Given the description of an element on the screen output the (x, y) to click on. 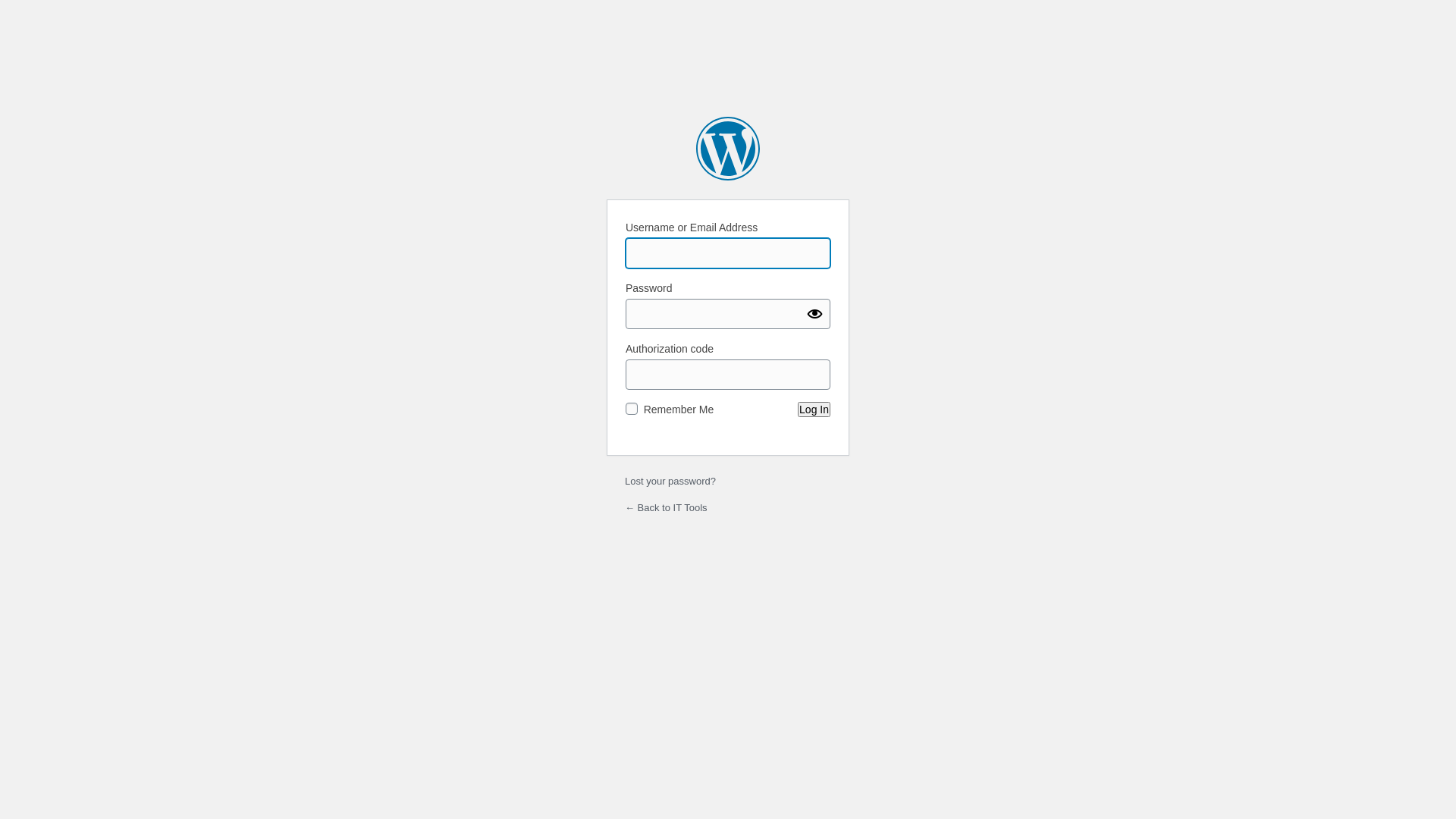
Log In Element type: text (813, 409)
Lost your password? Element type: text (669, 480)
Powered by WordPress Element type: text (727, 148)
